Given the description of an element on the screen output the (x, y) to click on. 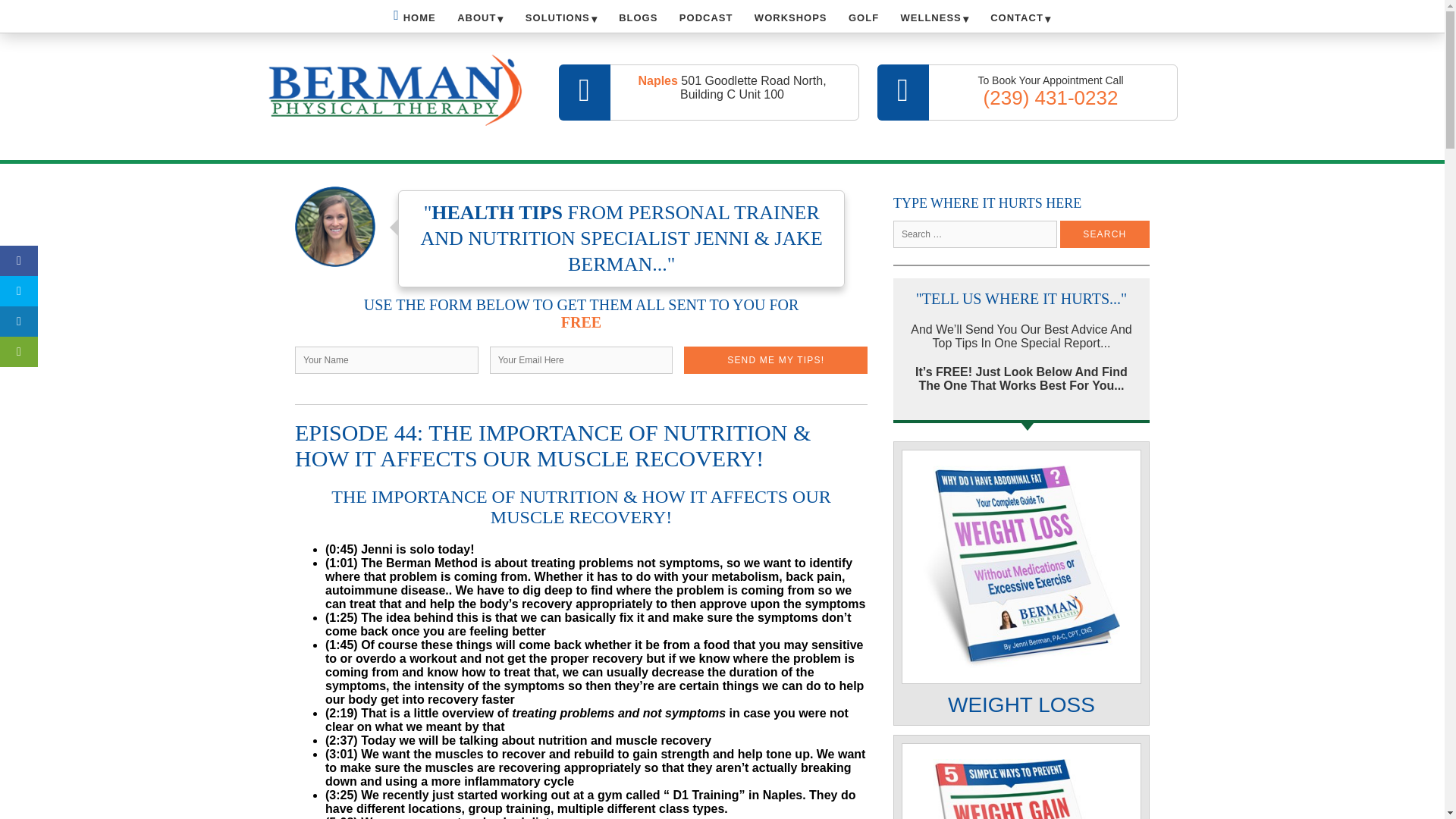
SOLUTIONS (561, 18)
Search (1104, 234)
Send Me My Tips! (775, 359)
ABOUT (480, 18)
WELLNESS (934, 18)
HOME (414, 15)
Search (1104, 234)
PODCAST (705, 17)
Naples 501 Goodlette Road North, Building C Unit 100 (708, 92)
GOLF (864, 17)
WORKSHOPS (790, 17)
Send Me My Tips! (775, 359)
CONTACT (1020, 18)
BLOGS (638, 17)
